Given the description of an element on the screen output the (x, y) to click on. 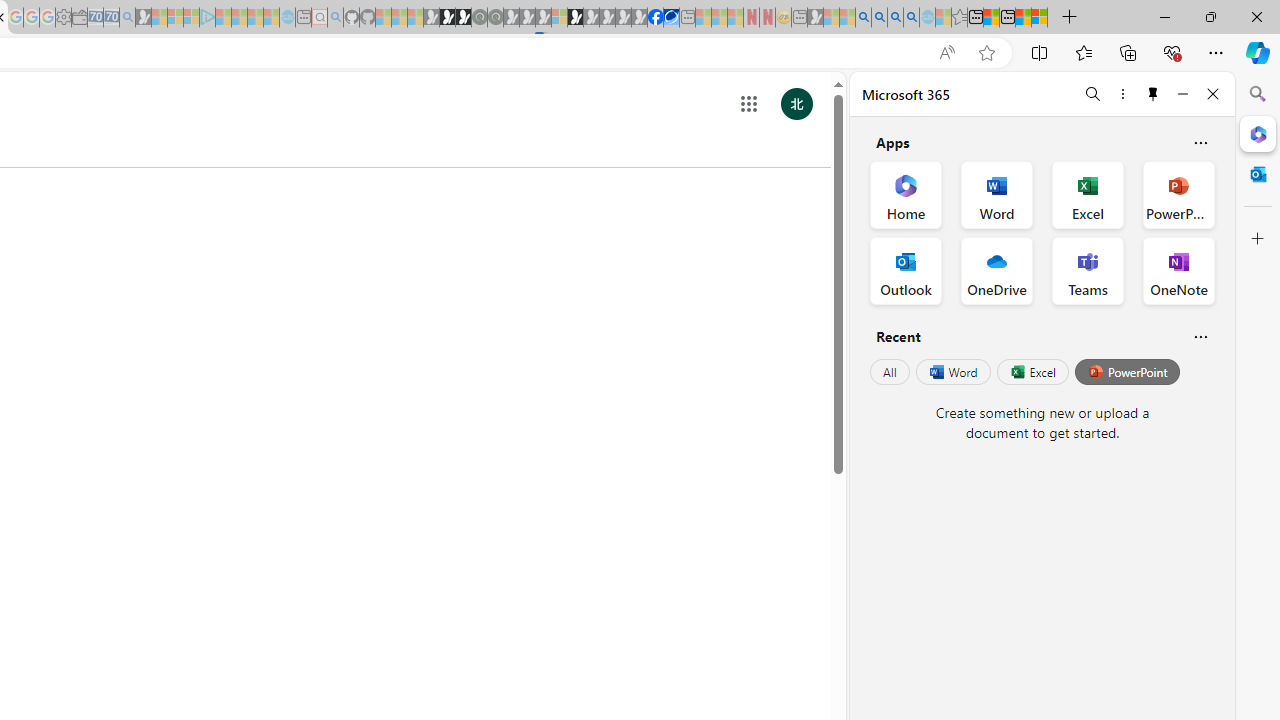
OneDrive Office App (996, 270)
OneNote Office App (1178, 270)
Bing AI - Search (863, 17)
MSN - Sleeping (815, 17)
Google Chrome Internet Browser Download - Search Images (911, 17)
PowerPoint (1127, 372)
